Given the description of an element on the screen output the (x, y) to click on. 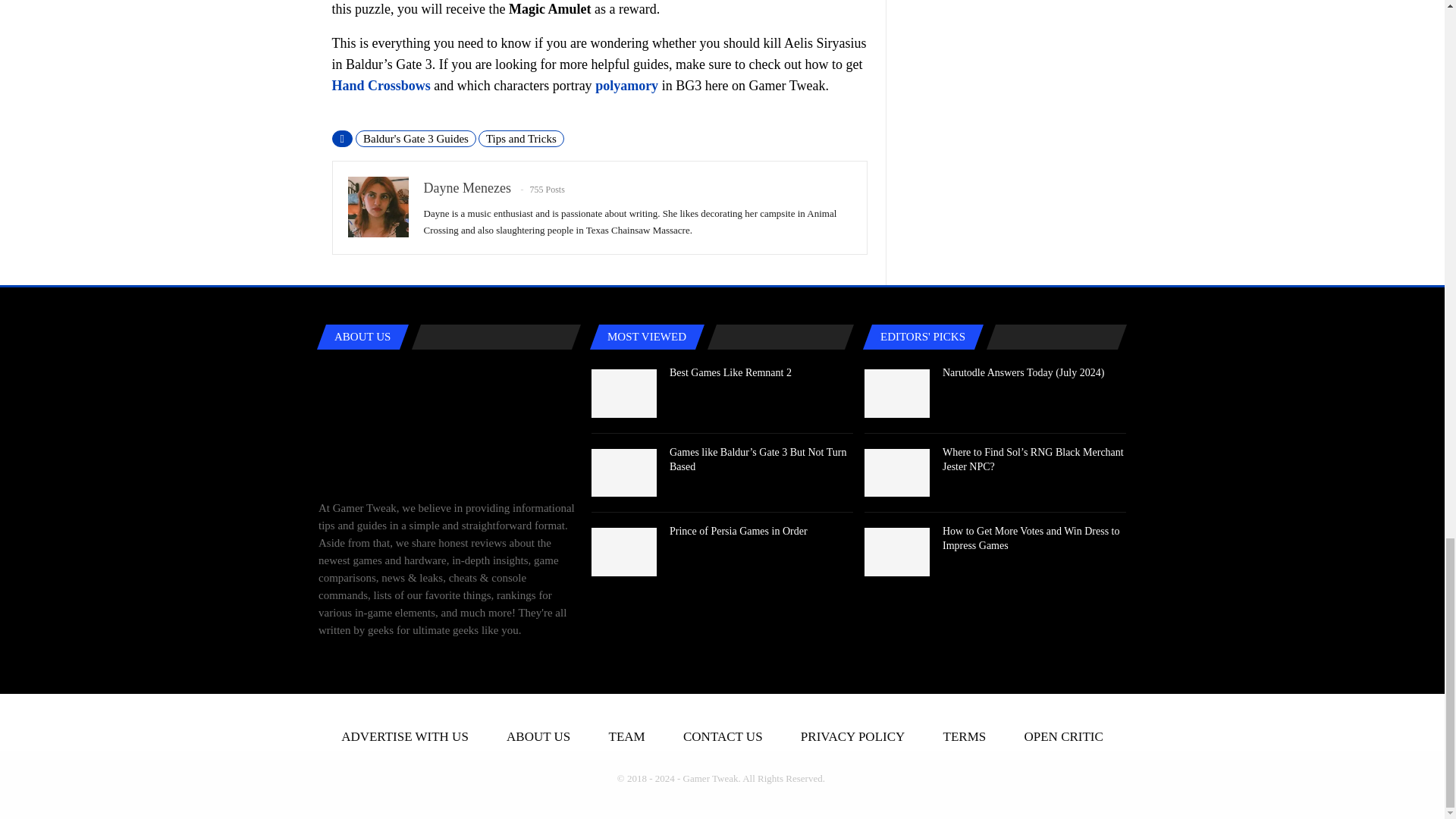
Hand Crossbows (380, 85)
Baldur's Gate 3 Guides (415, 138)
Tips and Tricks (521, 138)
polyamory (626, 85)
Dayne Menezes (467, 187)
